Given the description of an element on the screen output the (x, y) to click on. 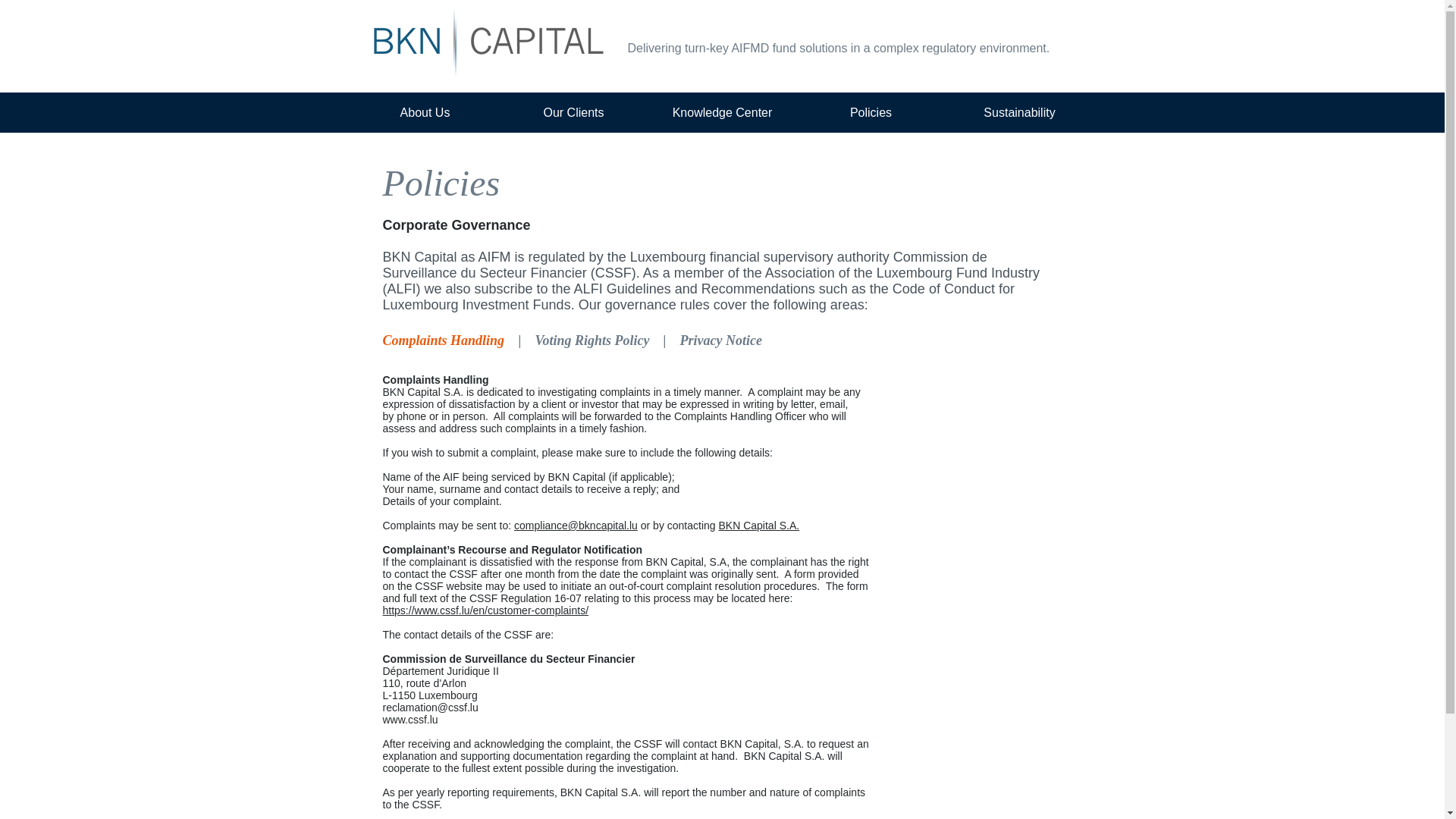
Privacy Notice (720, 338)
Voting Rights Policy (592, 340)
Sustainability (1018, 112)
About Us (424, 112)
www.cssf.lu (409, 719)
Policies (870, 112)
Our Clients (573, 112)
Knowledge Center (721, 112)
Complaints Handling (442, 338)
BKN Capital S.A. (759, 525)
